Given the description of an element on the screen output the (x, y) to click on. 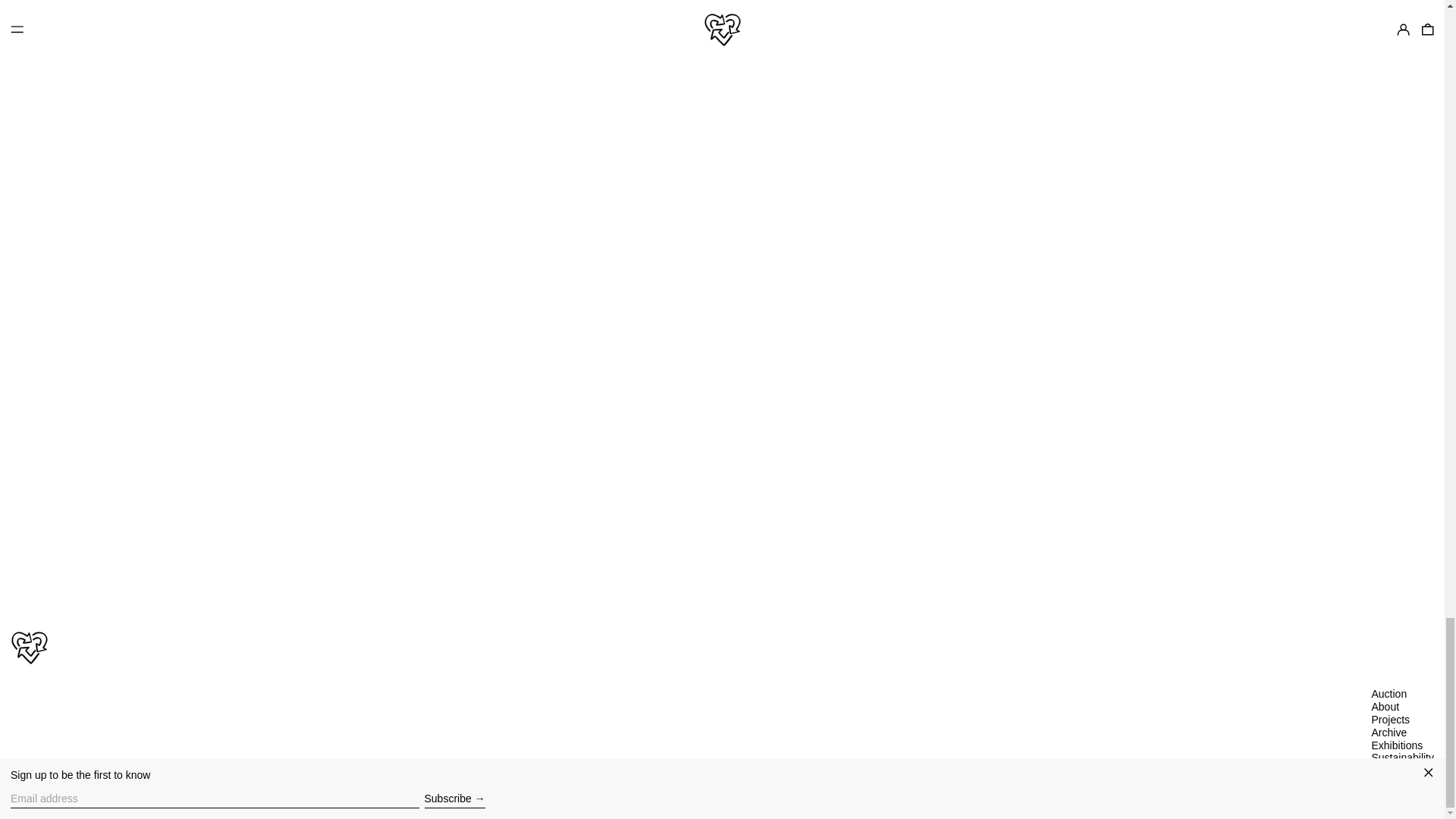
Auction (1388, 693)
Exhibitions (1396, 745)
Sustainability (1402, 757)
Archive (1388, 732)
About (1385, 706)
4BYSIX (56, 802)
Contact (1389, 770)
Projects (1390, 719)
